Given the description of an element on the screen output the (x, y) to click on. 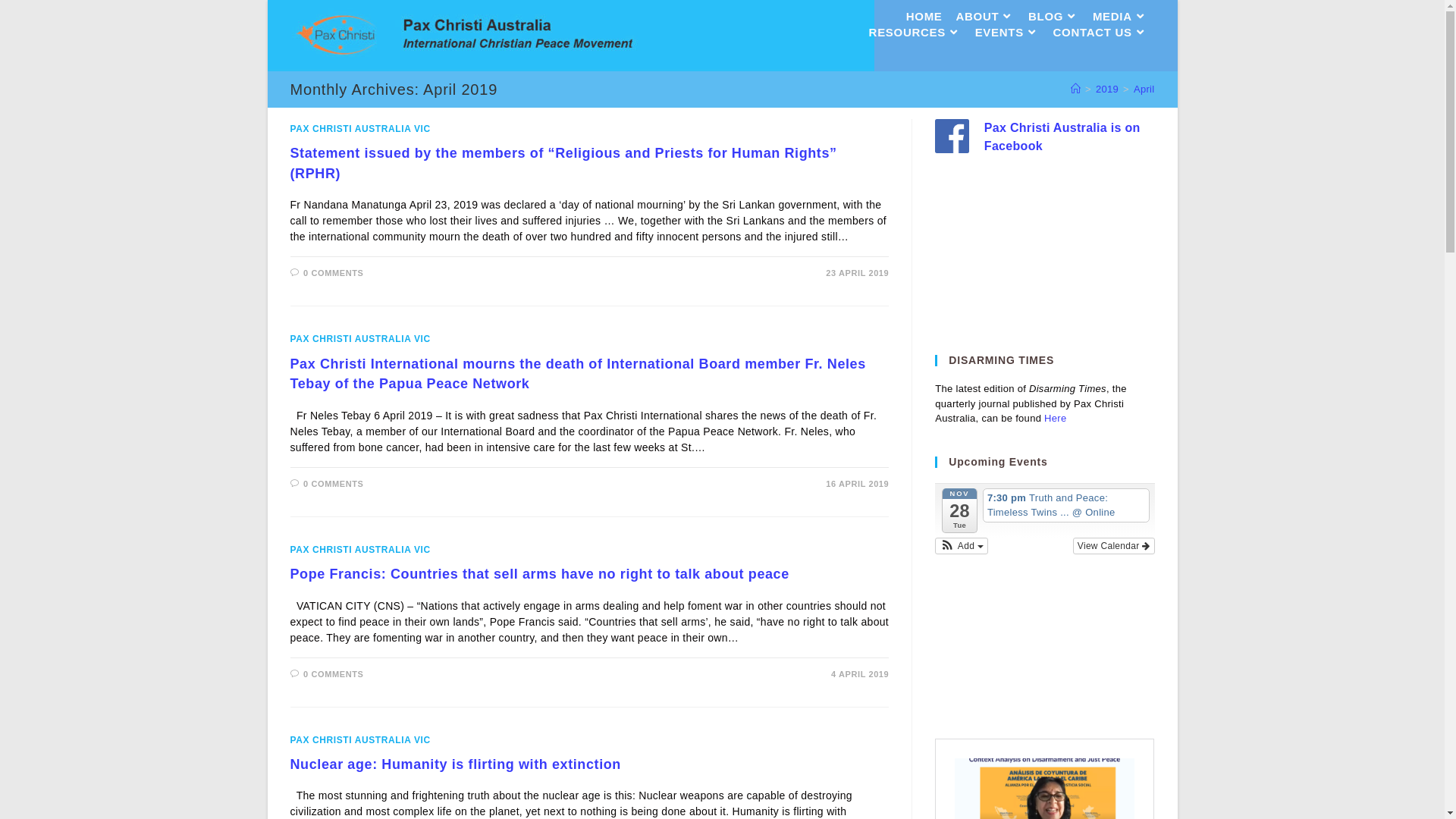
PAX CHRISTI AUSTRALIA VIC Element type: text (359, 739)
Pacem in Terris 2023 and Beyond Element type: hover (1044, 262)
PAX CHRISTI AUSTRALIA VIC Element type: text (359, 338)
Here Element type: text (1055, 417)
View Calendar Element type: text (1113, 545)
HOME Element type: text (924, 16)
0 COMMENTS Element type: text (333, 272)
PAX CHRISTI AUSTRALIA VIC Element type: text (359, 549)
PAX CHRISTI AUSTRALIA VIC Element type: text (359, 128)
RESOURCES Element type: text (915, 32)
CONTACT US Element type: text (1100, 32)
0 COMMENTS Element type: text (333, 483)
EVENTS Element type: text (1007, 32)
2019 Element type: text (1106, 88)
NOV
28
Tue Element type: text (959, 510)
MEDIA Element type: text (1119, 16)
Pax Christi Australia is on Facebook Element type: text (1062, 137)
BLOG Element type: text (1053, 16)
7:30 pm Truth and Peace: Timeless Twins ... @ Online Element type: text (1065, 504)
Nuclear age: Humanity is flirting with extinction Element type: text (454, 763)
ABOUT Element type: text (985, 16)
April Element type: text (1143, 88)
0 COMMENTS Element type: text (333, 672)
